Given the description of an element on the screen output the (x, y) to click on. 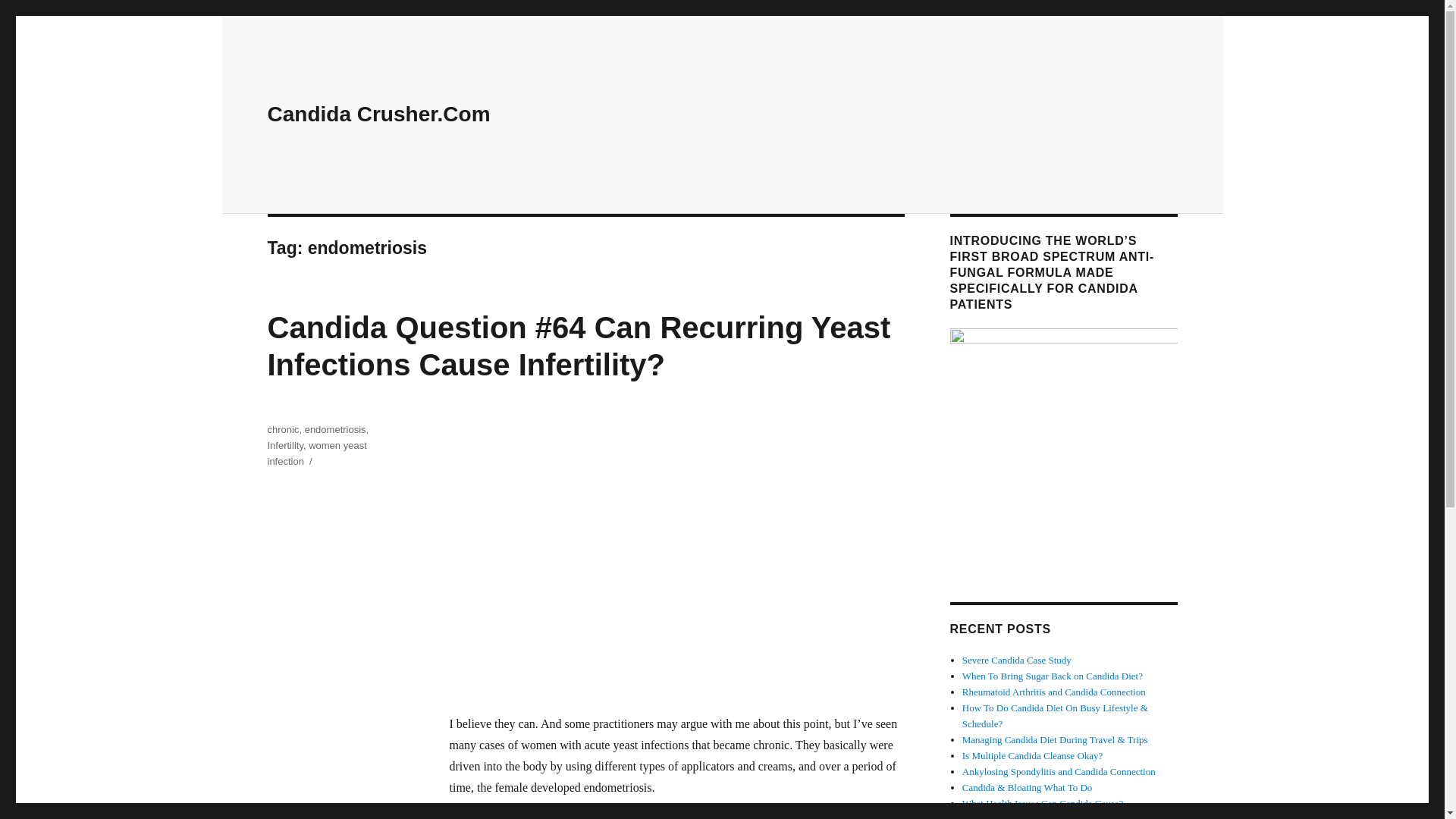
When To Bring Sugar Back on Candida Diet? (1052, 675)
women yeast infection (316, 452)
endometriosis (335, 429)
Candida Crusher.Com (377, 114)
Severe Candida Case Study (1016, 659)
chronic (282, 429)
Is Multiple Candida Cleanse Okay? (1032, 755)
Infertility (284, 445)
Ankylosing Spondylitis and Candida Connection (1059, 771)
Candida Yeast Not Going Away? Do This (1043, 816)
Rheumatoid Arthritis and Candida Connection (1053, 691)
What Health Issues Can Candida Cause? (1043, 803)
